Given the description of an element on the screen output the (x, y) to click on. 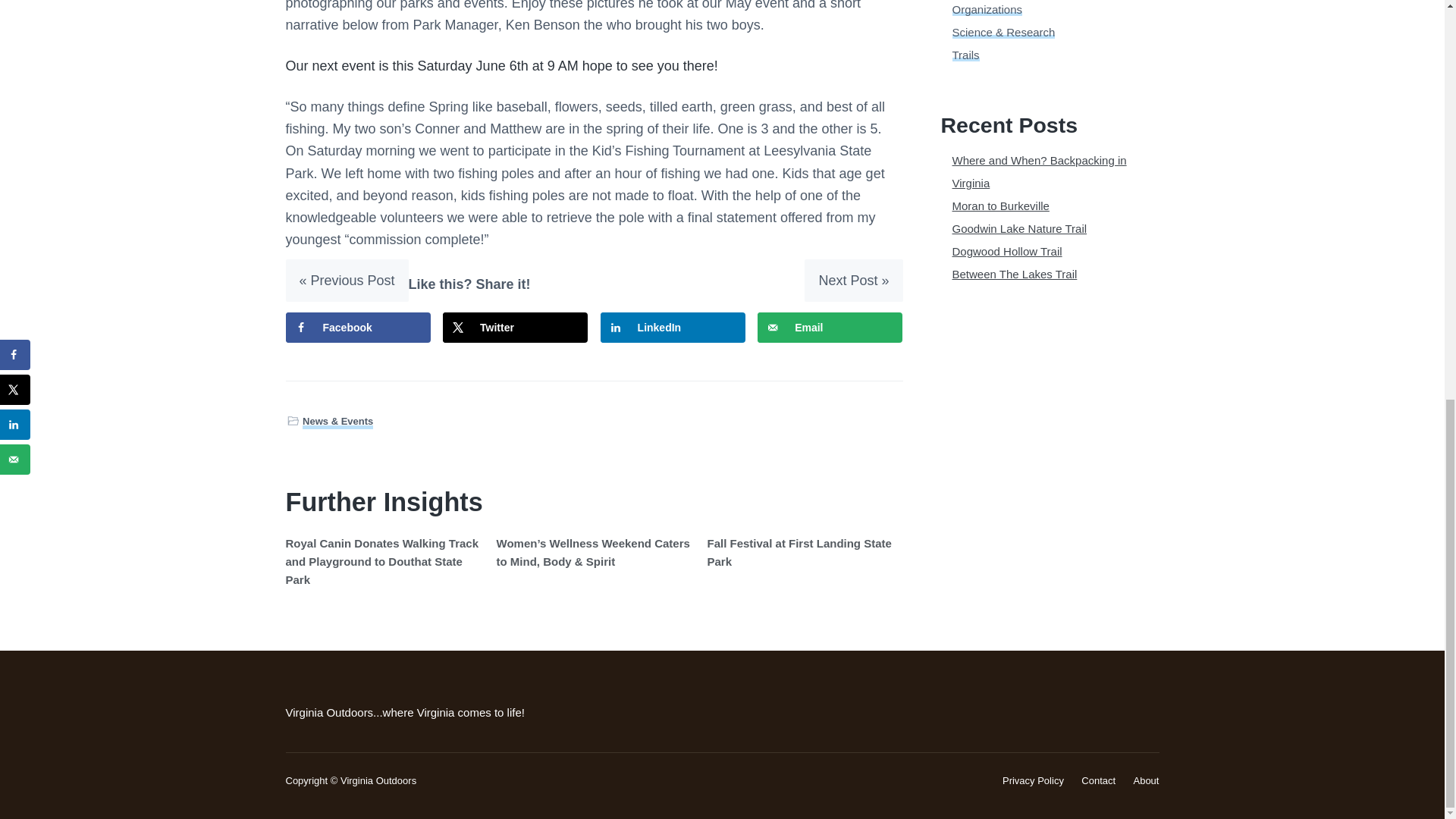
Trails (965, 54)
Send over email (829, 327)
Permanent Link to Fall Festival at First Landing State Park (798, 552)
Share on LinkedIn (672, 327)
Email (829, 327)
LinkedIn (672, 327)
Organizations (987, 9)
Facebook (357, 327)
Share on X (515, 327)
